Given the description of an element on the screen output the (x, y) to click on. 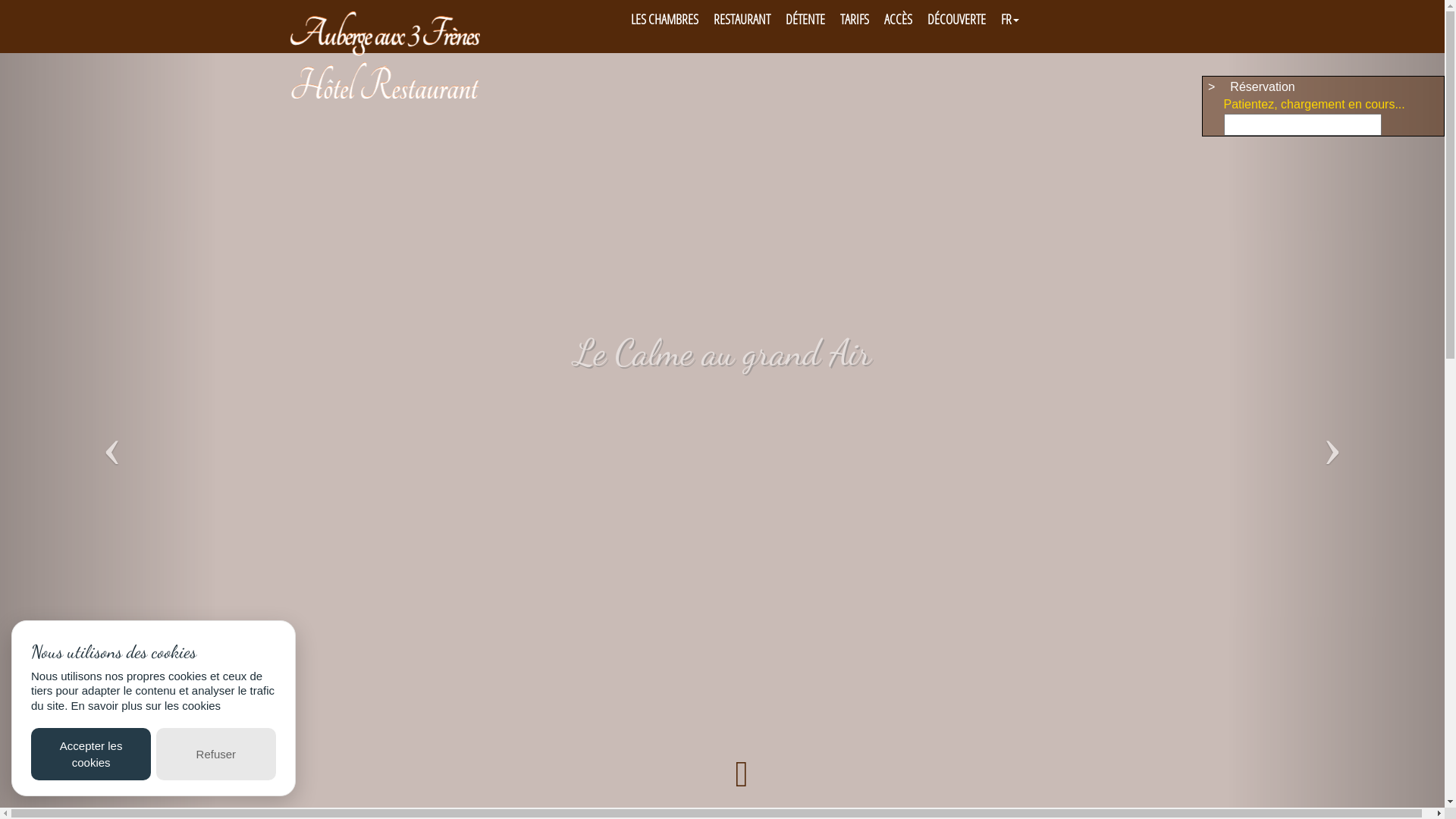
Accepter les cookies Element type: text (90, 754)
En savoir plus sur les cookies Element type: text (146, 705)
FR Element type: text (1009, 18)
LES CHAMBRES Element type: text (664, 18)
Refuser Element type: text (216, 754)
TARIFS Element type: text (854, 18)
RESTAURANT Element type: text (741, 18)
